Given the description of an element on the screen output the (x, y) to click on. 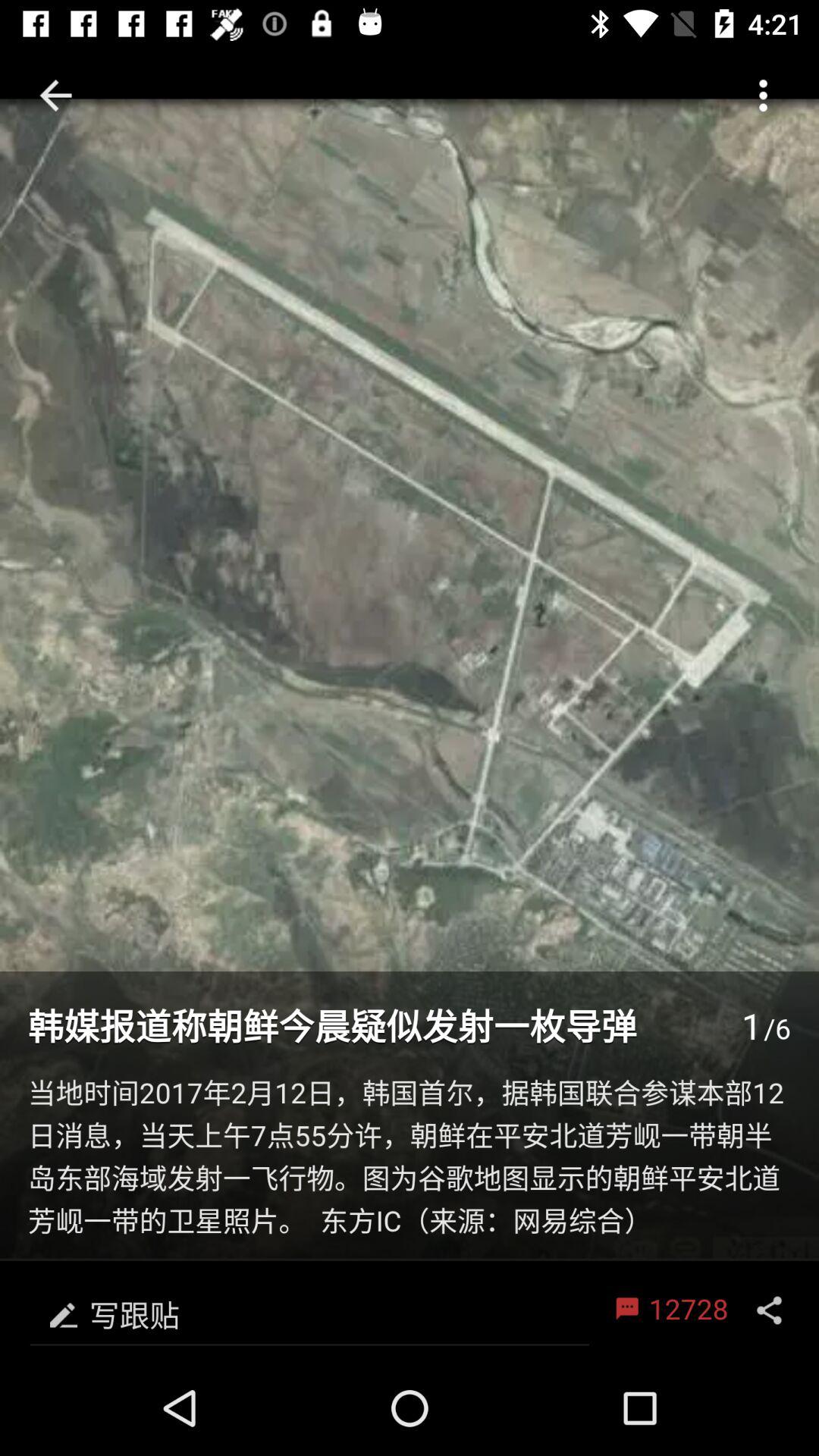
turn on icon at the top right corner (763, 95)
